Given the description of an element on the screen output the (x, y) to click on. 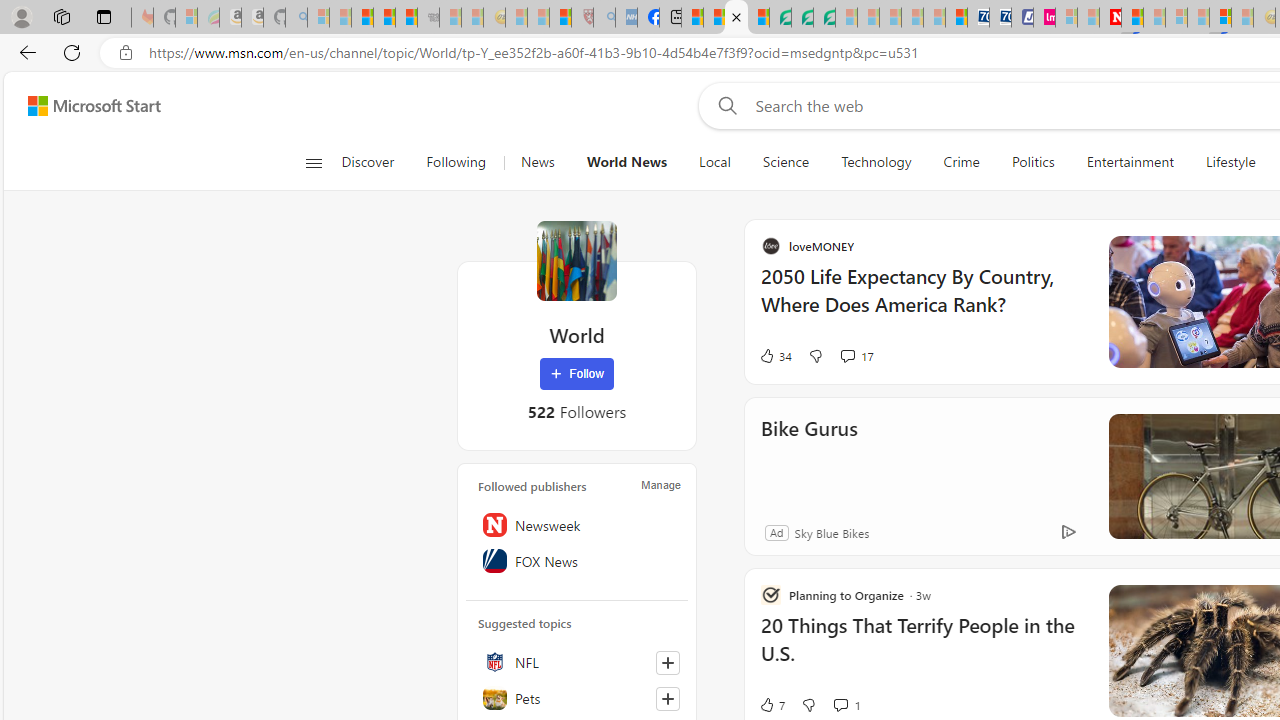
Terms of Use Agreement (802, 17)
Sky Blue Bikes (1024, 532)
Newsweek (577, 525)
The Weather Channel - MSN (362, 17)
